Given the description of an element on the screen output the (x, y) to click on. 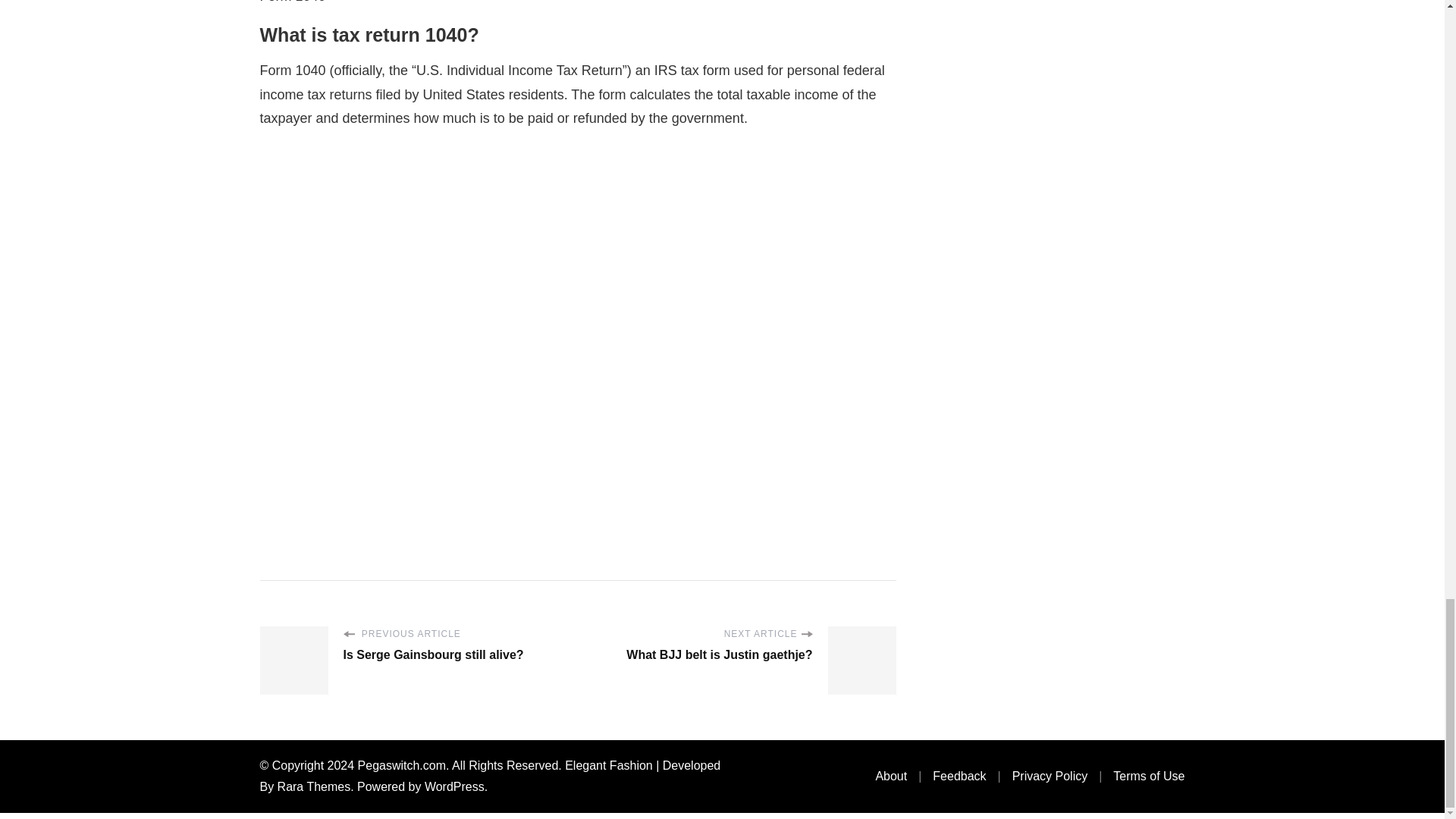
Rara Themes (314, 786)
WordPress (454, 786)
Pegaswitch.com (401, 765)
